Given the description of an element on the screen output the (x, y) to click on. 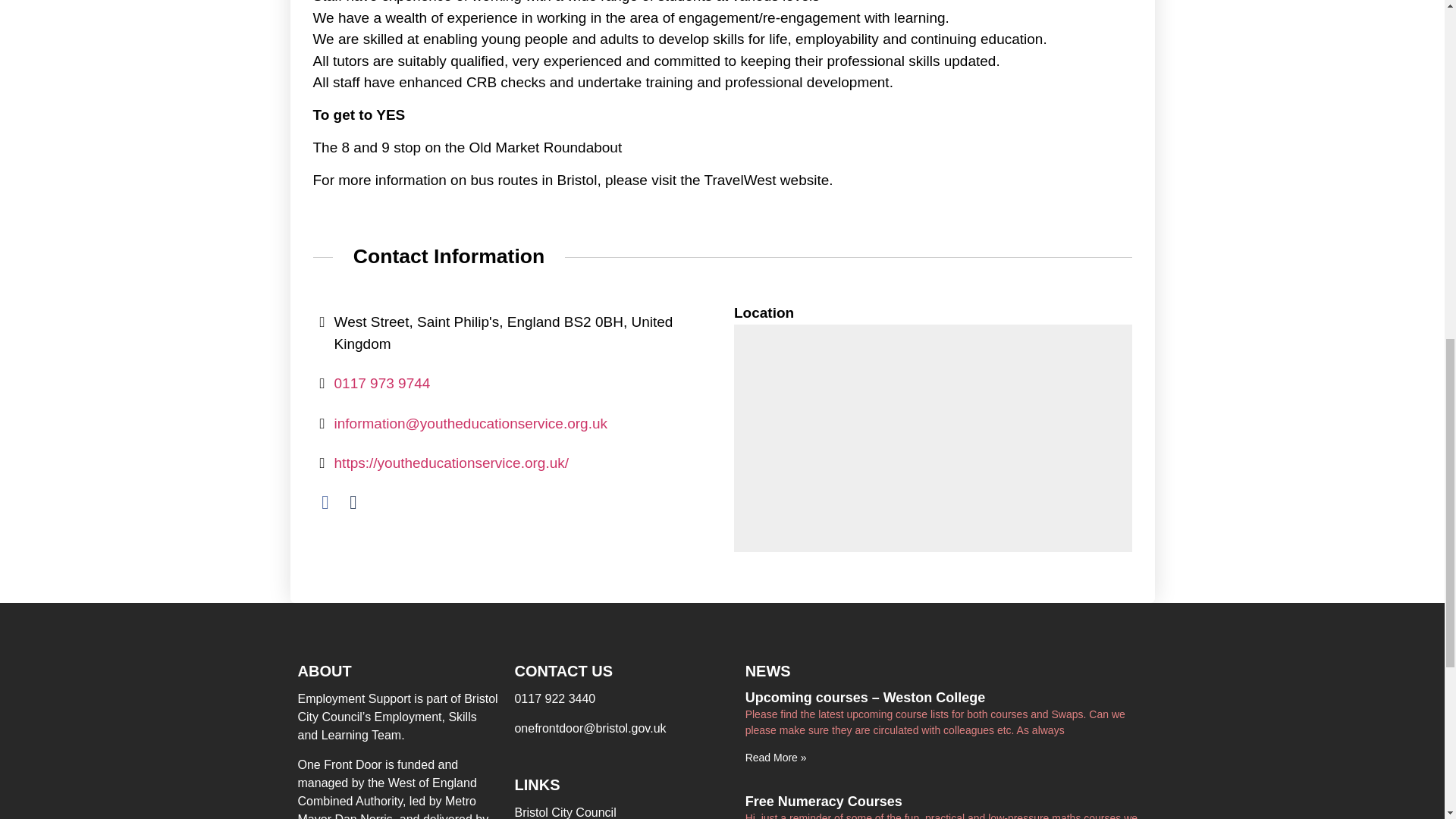
Facebook (324, 502)
0117 973 9744 (381, 383)
Free Numeracy Courses (823, 801)
Bristol City Council (621, 811)
